Given the description of an element on the screen output the (x, y) to click on. 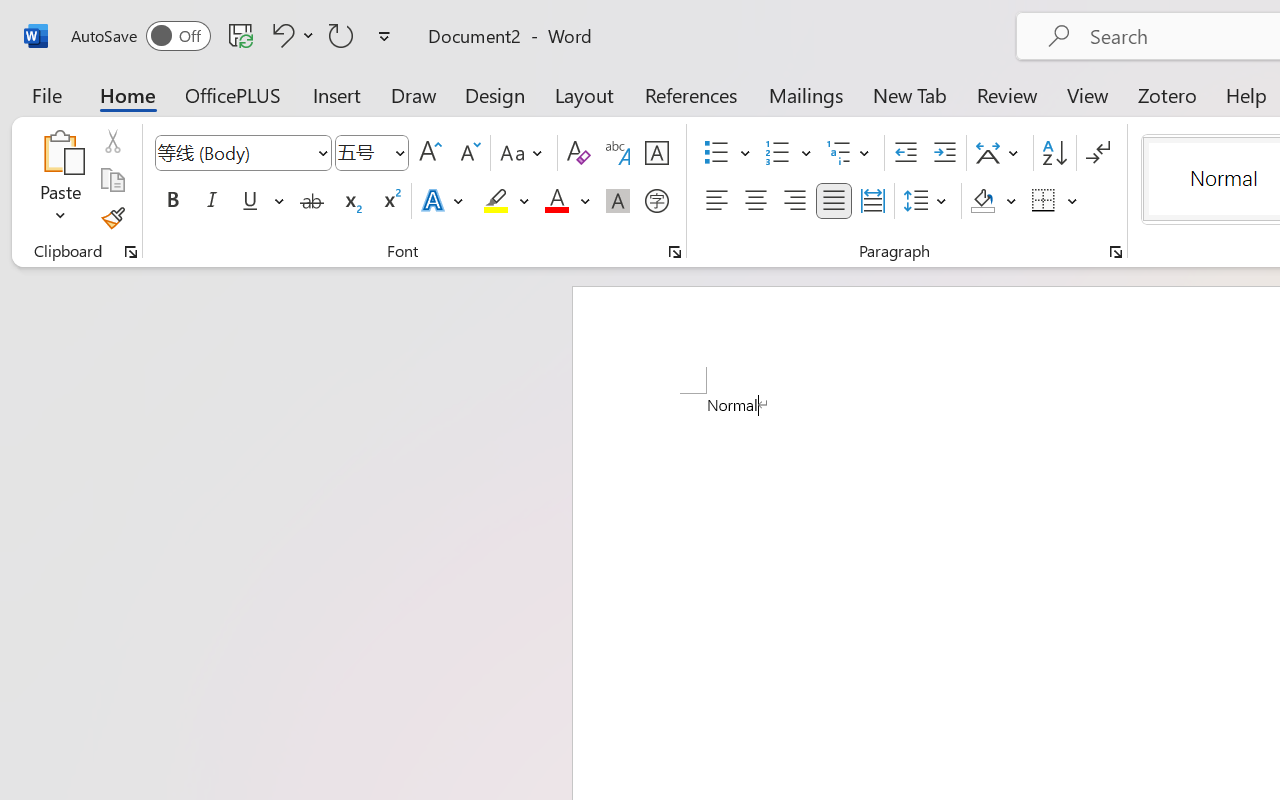
Grow Font (430, 153)
Asian Layout (1000, 153)
Increase Indent (944, 153)
Repeat Style (341, 35)
Align Right (794, 201)
Font Color (567, 201)
Superscript (390, 201)
Clear Formatting (578, 153)
Strikethrough (312, 201)
Underline (250, 201)
Insert (337, 94)
Shading (993, 201)
Paste (60, 179)
Text Highlight Color (506, 201)
